Given the description of an element on the screen output the (x, y) to click on. 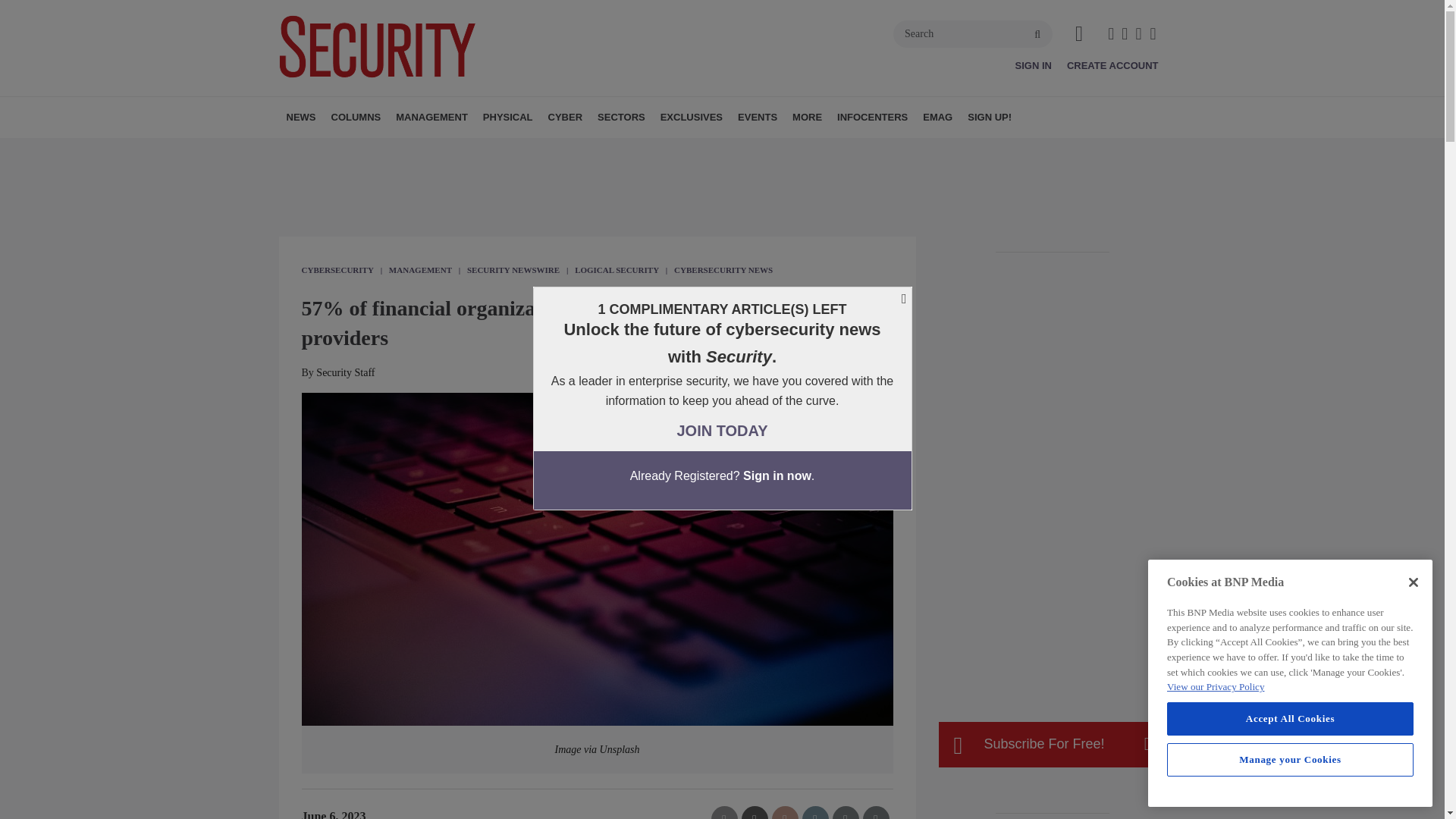
Search (972, 33)
Search (972, 33)
